Given the description of an element on the screen output the (x, y) to click on. 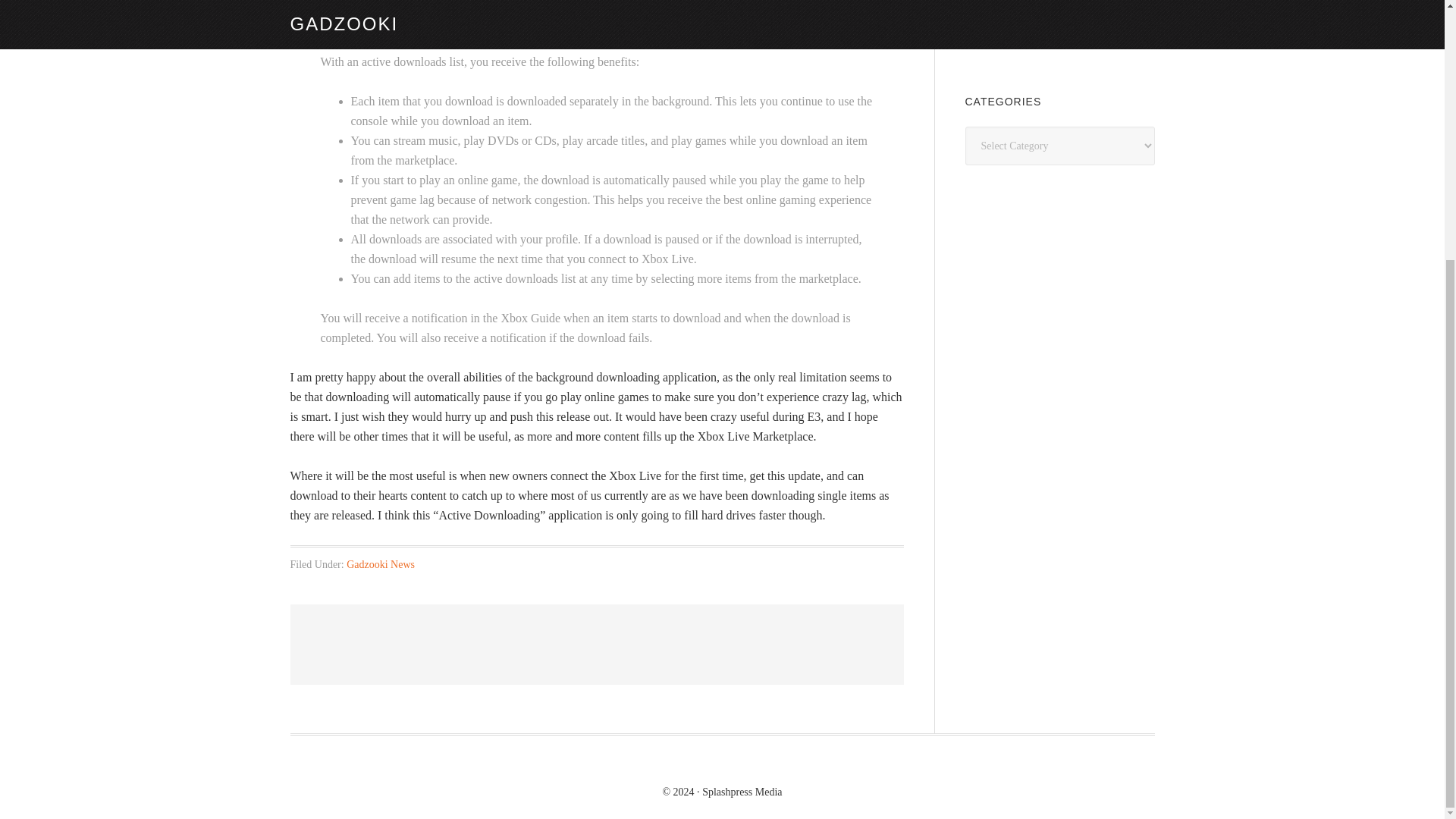
Advertisement (1077, 29)
Gadzooki News (380, 564)
Splashpress Media (741, 790)
